Given the description of an element on the screen output the (x, y) to click on. 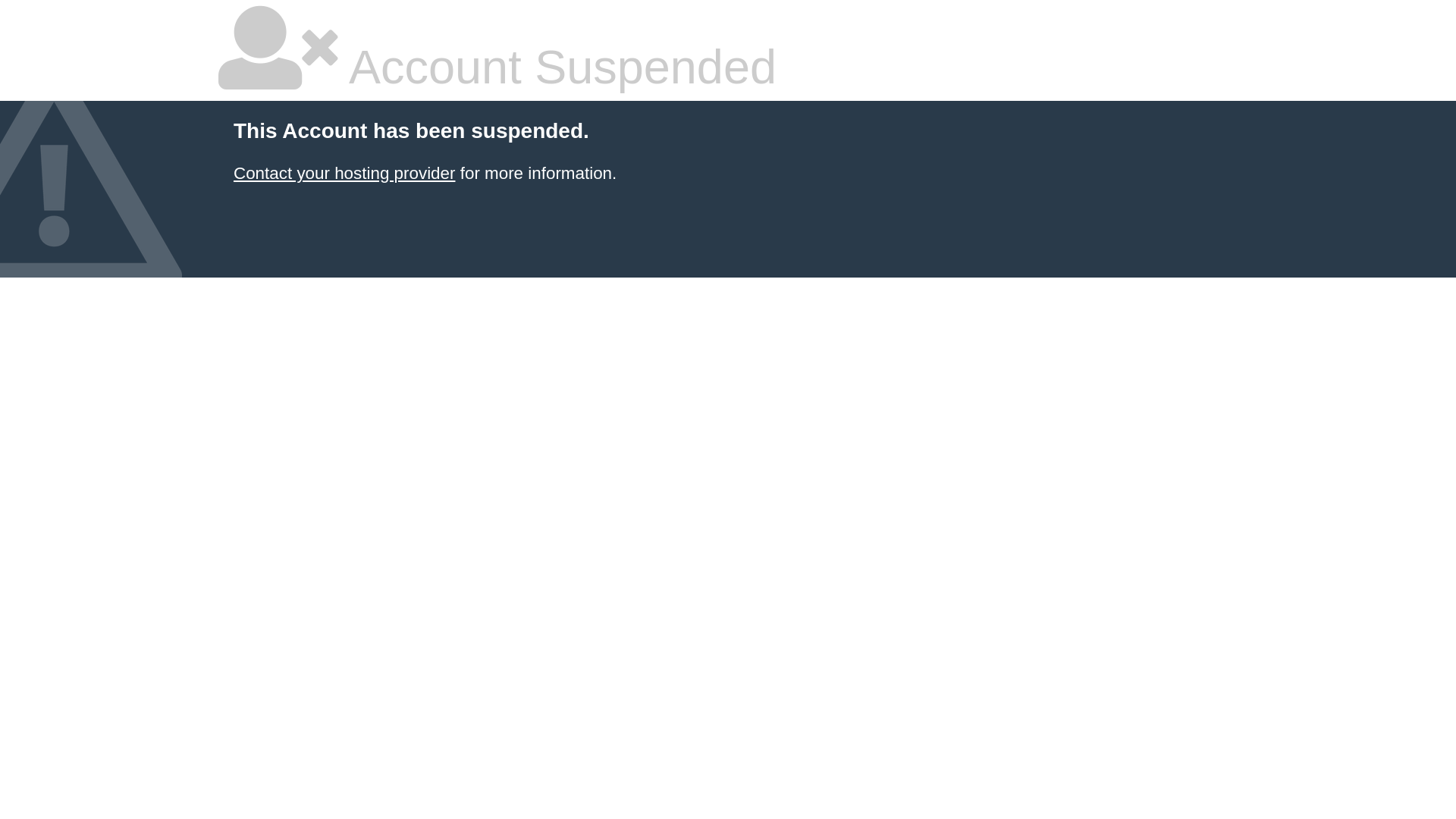
Contact your hosting provider Element type: text (344, 172)
